Given the description of an element on the screen output the (x, y) to click on. 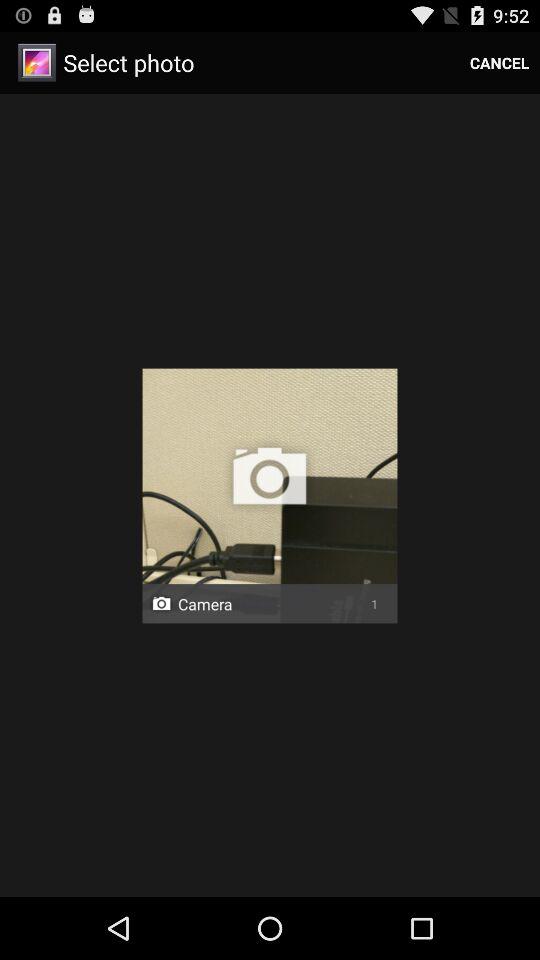
click app to the right of select photo icon (499, 62)
